Given the description of an element on the screen output the (x, y) to click on. 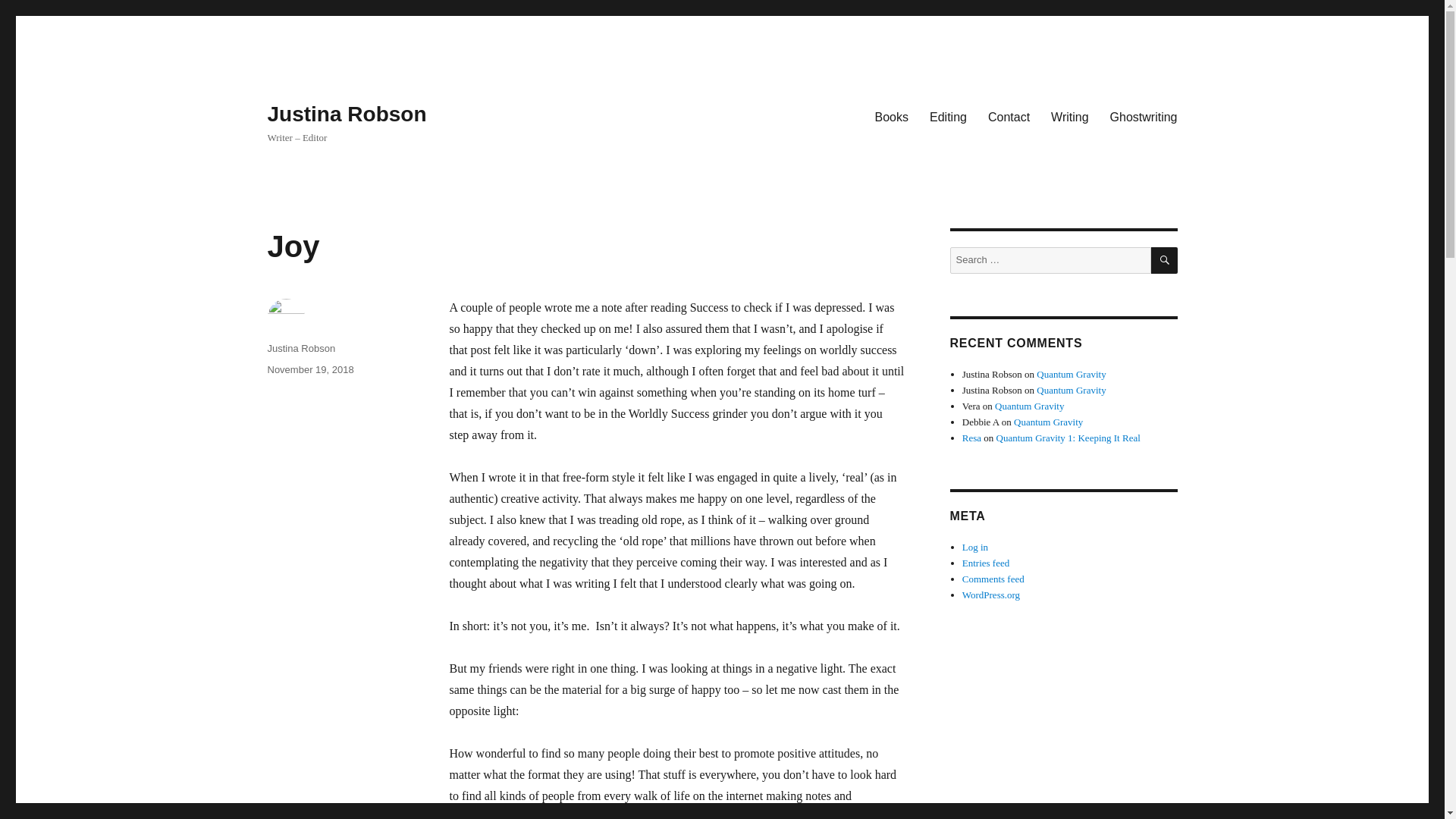
Quantum Gravity 1: Keeping It Real (1067, 437)
Resa (971, 437)
Justina Robson (300, 348)
Contact (1008, 116)
WordPress.org (991, 594)
Quantum Gravity (1070, 389)
Quantum Gravity (1048, 421)
Editing (947, 116)
Log in (975, 546)
SEARCH (1164, 260)
Entries feed (985, 562)
Books (891, 116)
Quantum Gravity (1029, 405)
Writing (1070, 116)
Justina Robson (346, 114)
